Given the description of an element on the screen output the (x, y) to click on. 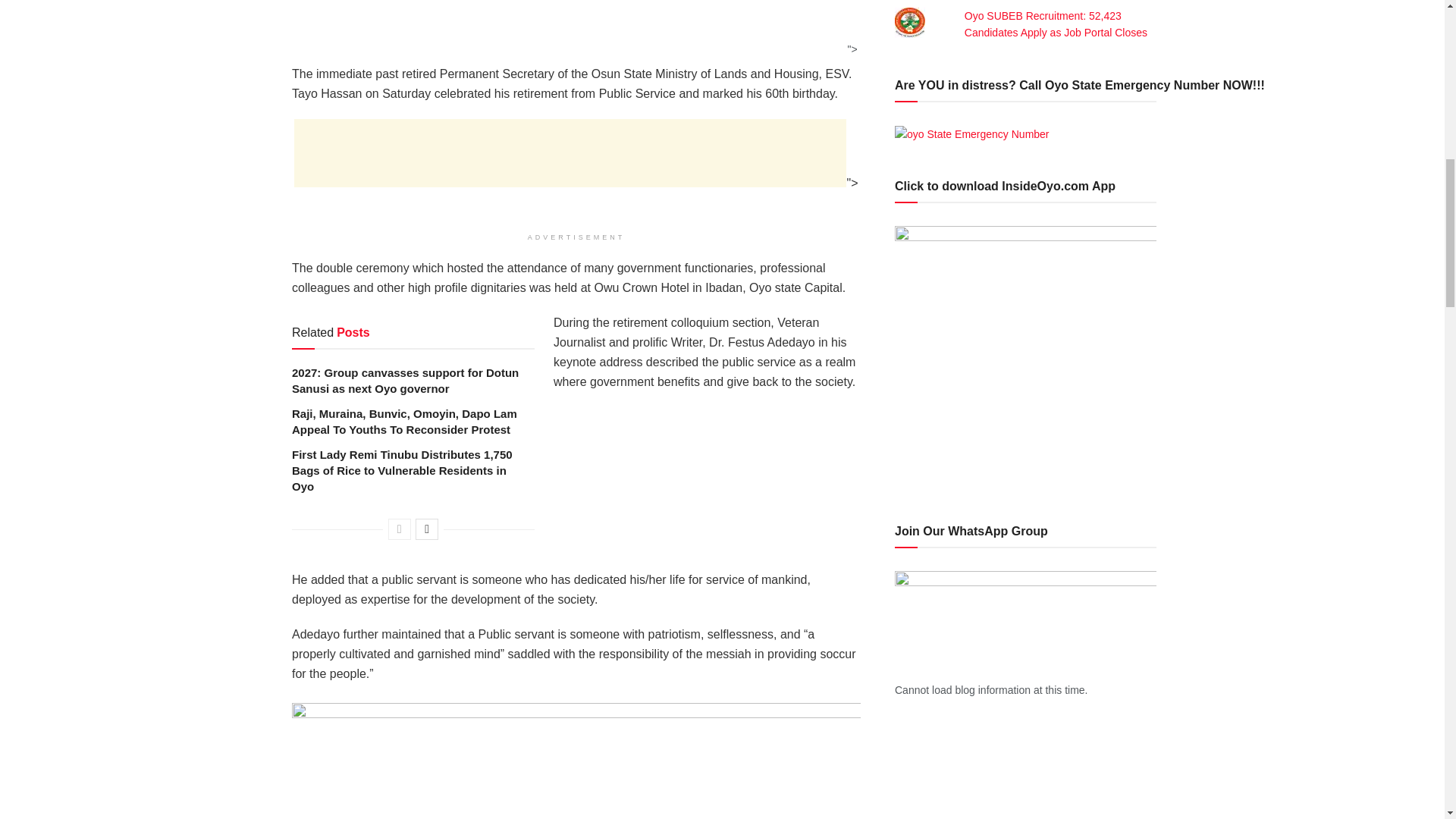
Previous (399, 528)
Next (426, 528)
Are YOU in distress? Call Oyo State Emergency Number NOW!!! (972, 134)
